Given the description of an element on the screen output the (x, y) to click on. 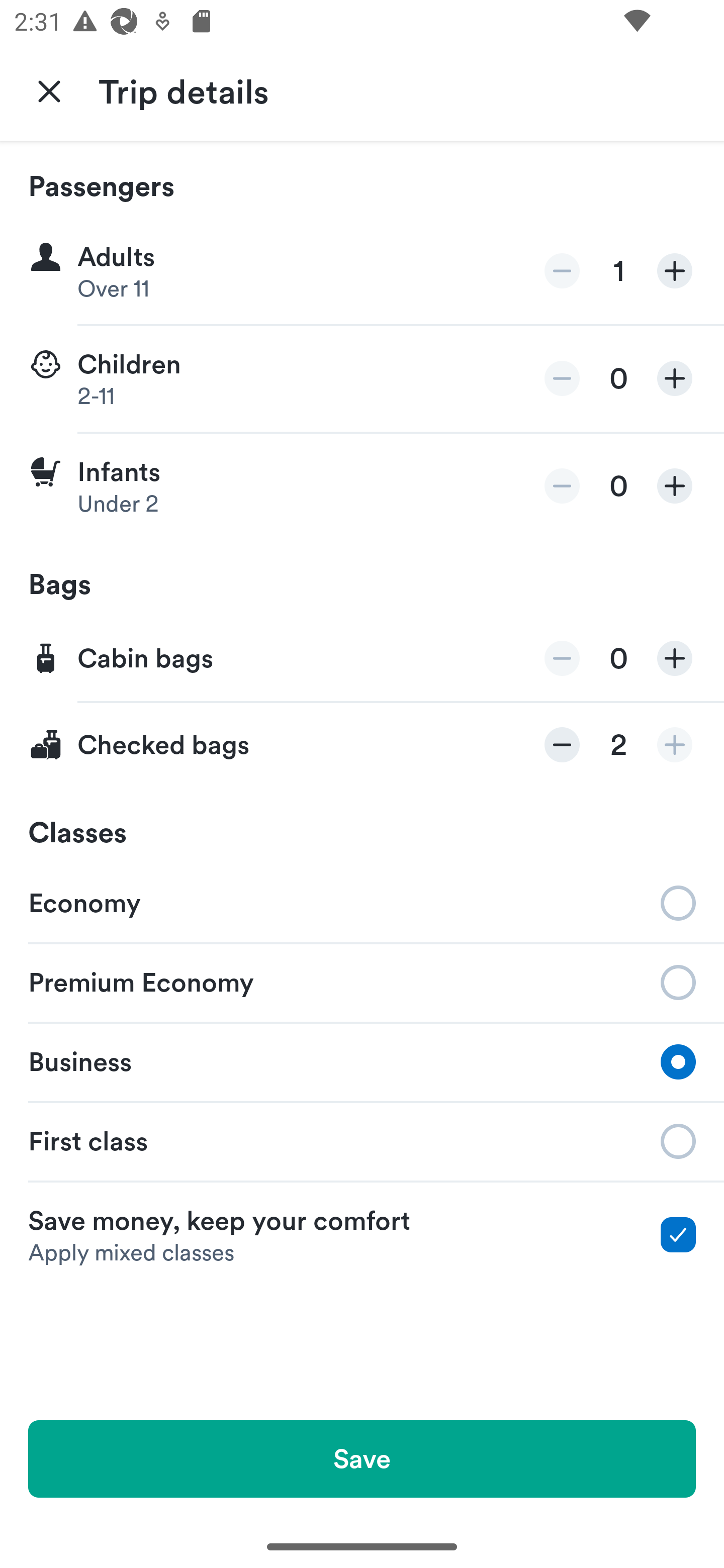
Navigate up (49, 90)
Remove 1 Add Adults Over 11 (362, 271)
Remove (561, 270)
Add (674, 270)
Remove 0 Add Children 2-11 (362, 379)
Remove (561, 377)
Add (674, 377)
Remove 0 Add Infants Under 2 (362, 485)
Remove (561, 485)
Add (674, 485)
Remove 0 Add Cabin bags (362, 659)
Remove (561, 658)
Add (674, 658)
Remove 2 Add Checked bags (362, 744)
Remove (561, 744)
Add (674, 744)
Economy (362, 901)
Premium Economy (362, 980)
First class (362, 1141)
Save (361, 1458)
